Given the description of an element on the screen output the (x, y) to click on. 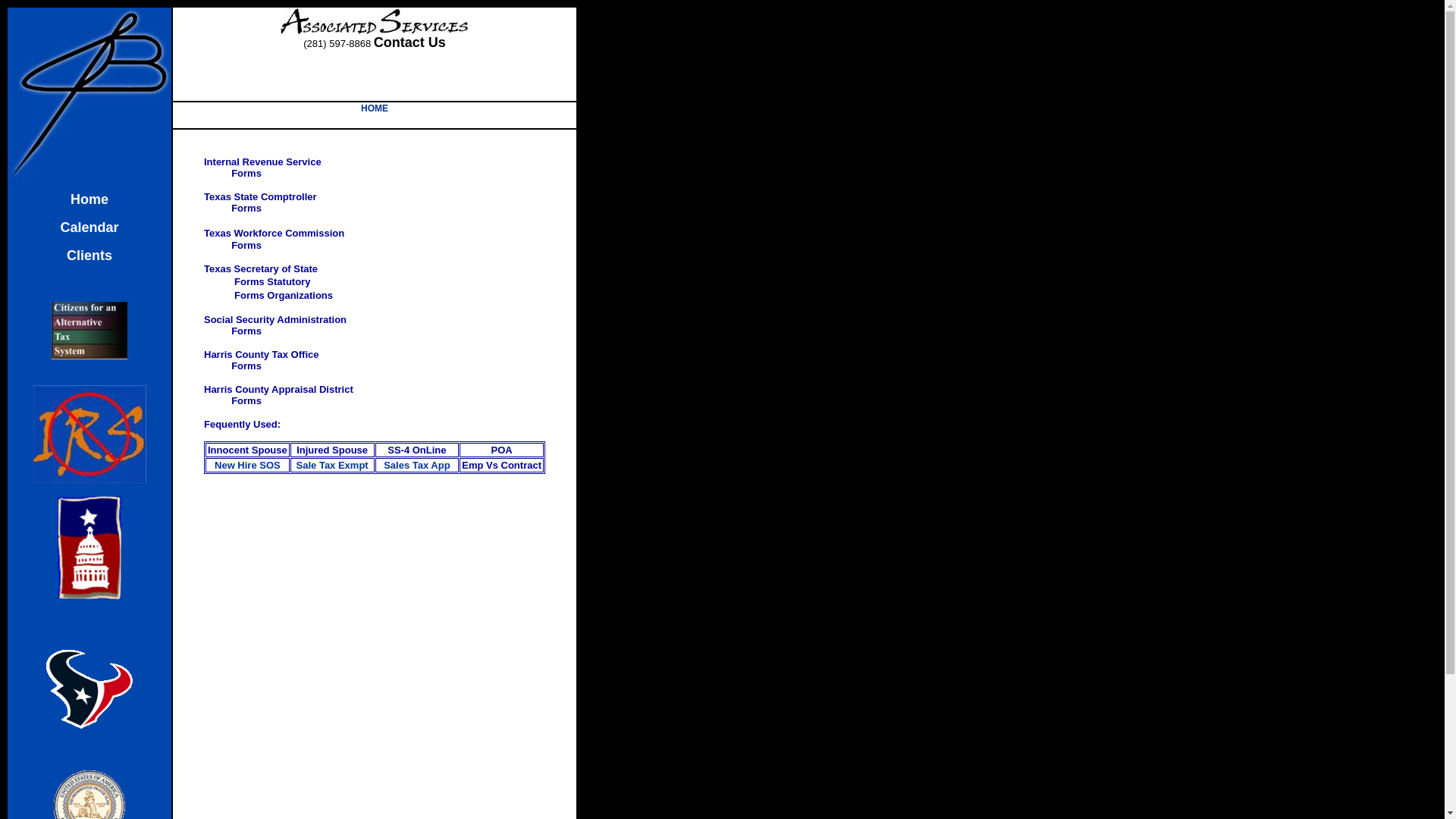
Forms Element type: text (246, 400)
Harris County Tax Office Element type: text (260, 354)
Forms Statutory Element type: text (272, 281)
Internal Revenue Service Element type: text (262, 161)
SS-4 Element type: text (398, 450)
Forms Element type: text (246, 331)
Forms Element type: text (245, 173)
HOME Element type: text (374, 108)
Social Security Administration Element type: text (274, 319)
Sales Tax App Element type: text (416, 465)
Forms Element type: text (246, 245)
Clients Element type: text (89, 256)
OnLine Element type: text (429, 450)
Texas State Comptroller Element type: text (259, 196)
Texas Workforce Commission Element type: text (273, 233)
Texas Secretary of State Element type: text (260, 268)
Forms Organizations Element type: text (283, 295)
Sale Tax Exmpt Element type: text (332, 465)
Calendar Element type: text (88, 228)
Contact Us Element type: text (409, 43)
Home Element type: text (89, 200)
Injured Spouse Element type: text (331, 450)
POA Element type: text (501, 450)
New Hire SOS Element type: text (247, 465)
Forms Element type: text (246, 365)
Innocent Spouse Element type: text (247, 450)
Forms Element type: text (246, 208)
Emp Vs Contract Element type: text (501, 465)
Harris County Appraisal District Element type: text (278, 389)
